Given the description of an element on the screen output the (x, y) to click on. 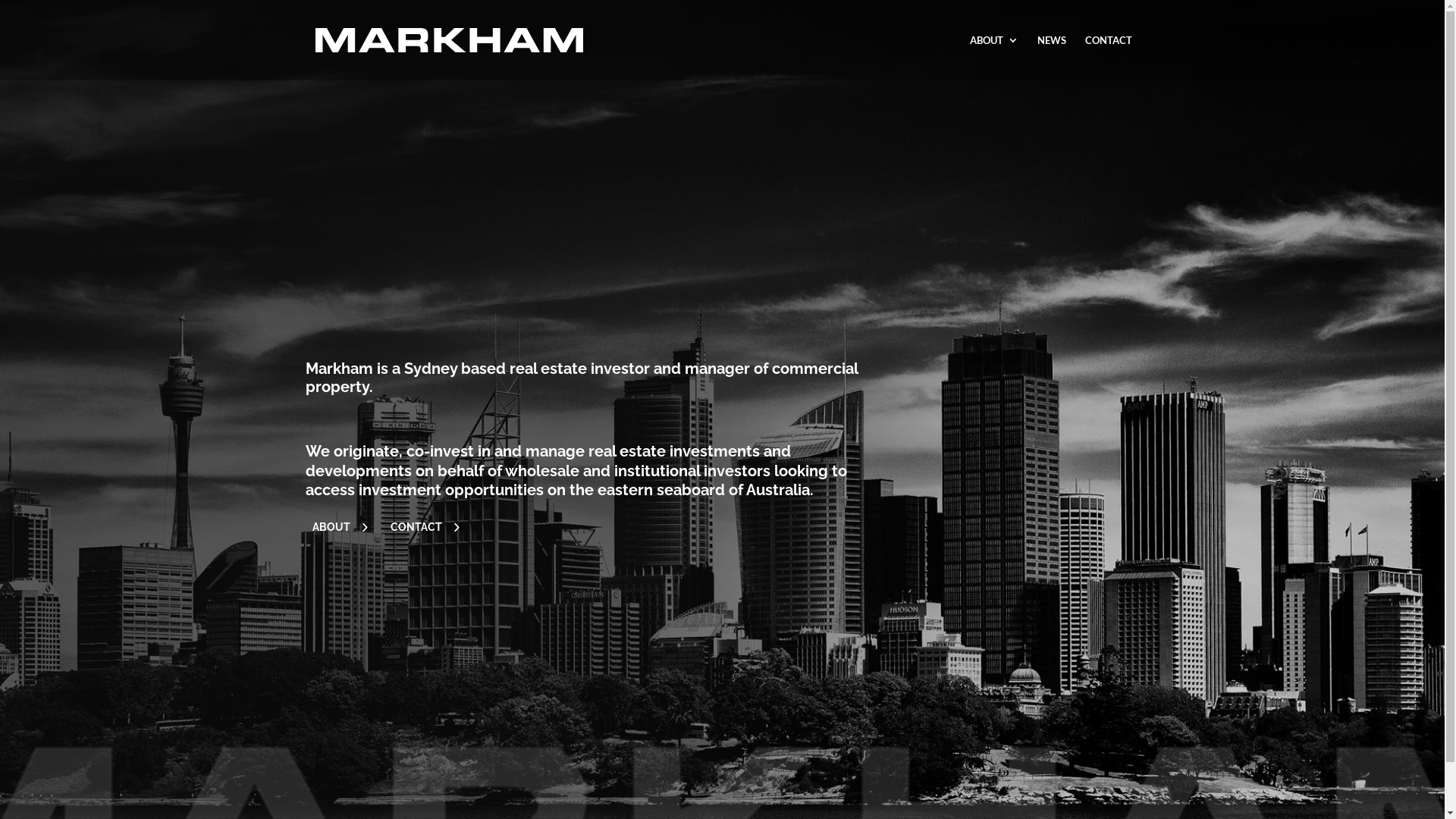
CONTACT Element type: text (422, 527)
ABOUT Element type: text (337, 527)
CONTACT Element type: text (1107, 57)
NEWS Element type: text (1051, 57)
ABOUT Element type: text (993, 57)
